Given the description of an element on the screen output the (x, y) to click on. 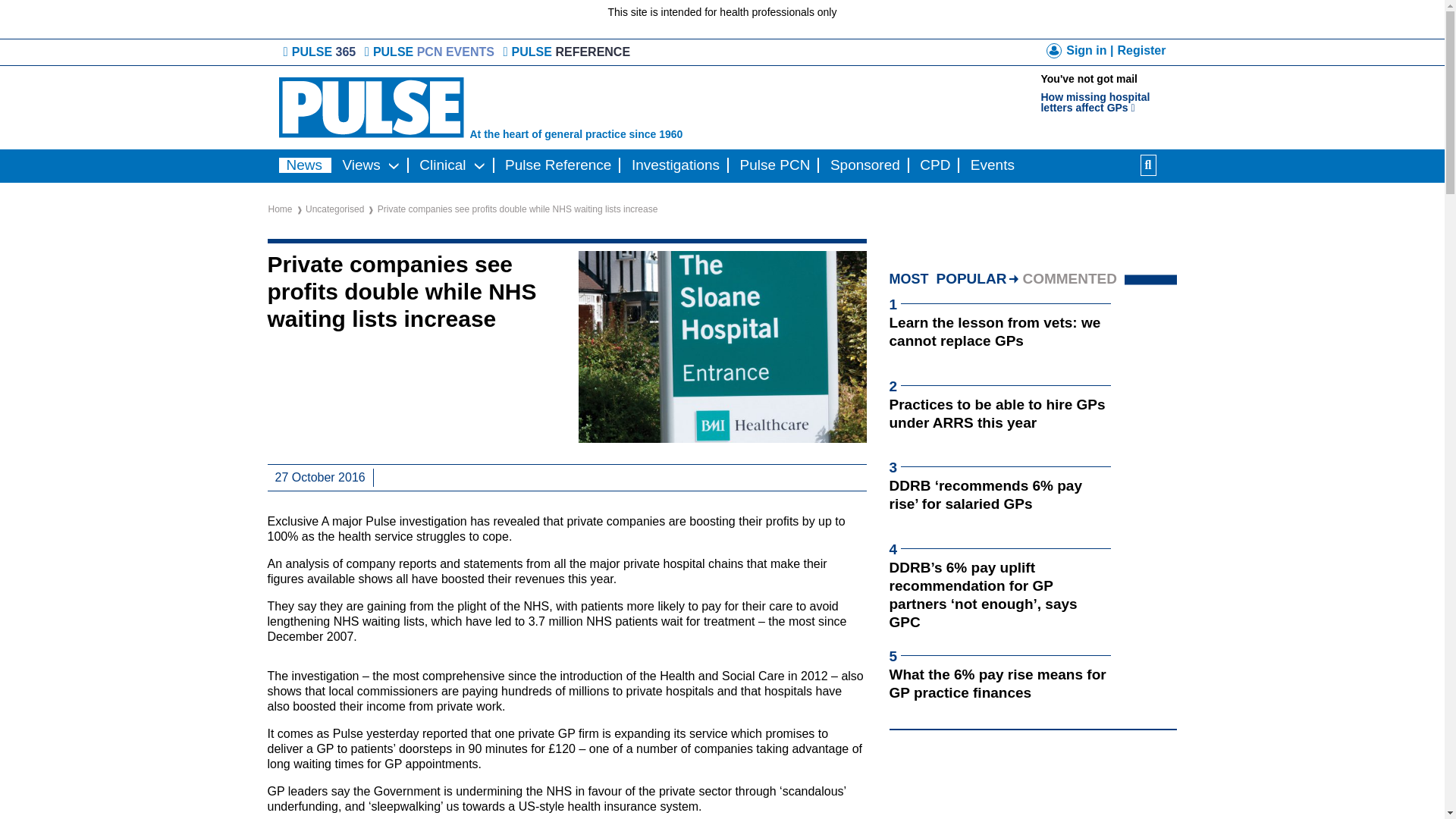
News (304, 165)
PULSE 365 (320, 51)
Pulse Reference (557, 165)
At the heart of general practice since 1960 (564, 107)
Views (360, 165)
Events (992, 165)
Register (1141, 50)
PULSE REFERENCE (568, 51)
Sign in (1079, 52)
Practices to be able to hire GPs under ARRS this year (996, 413)
PULSE PCN EVENTS (431, 51)
Pulse PCN (775, 165)
Clinical (1108, 93)
CPD (442, 165)
